Given the description of an element on the screen output the (x, y) to click on. 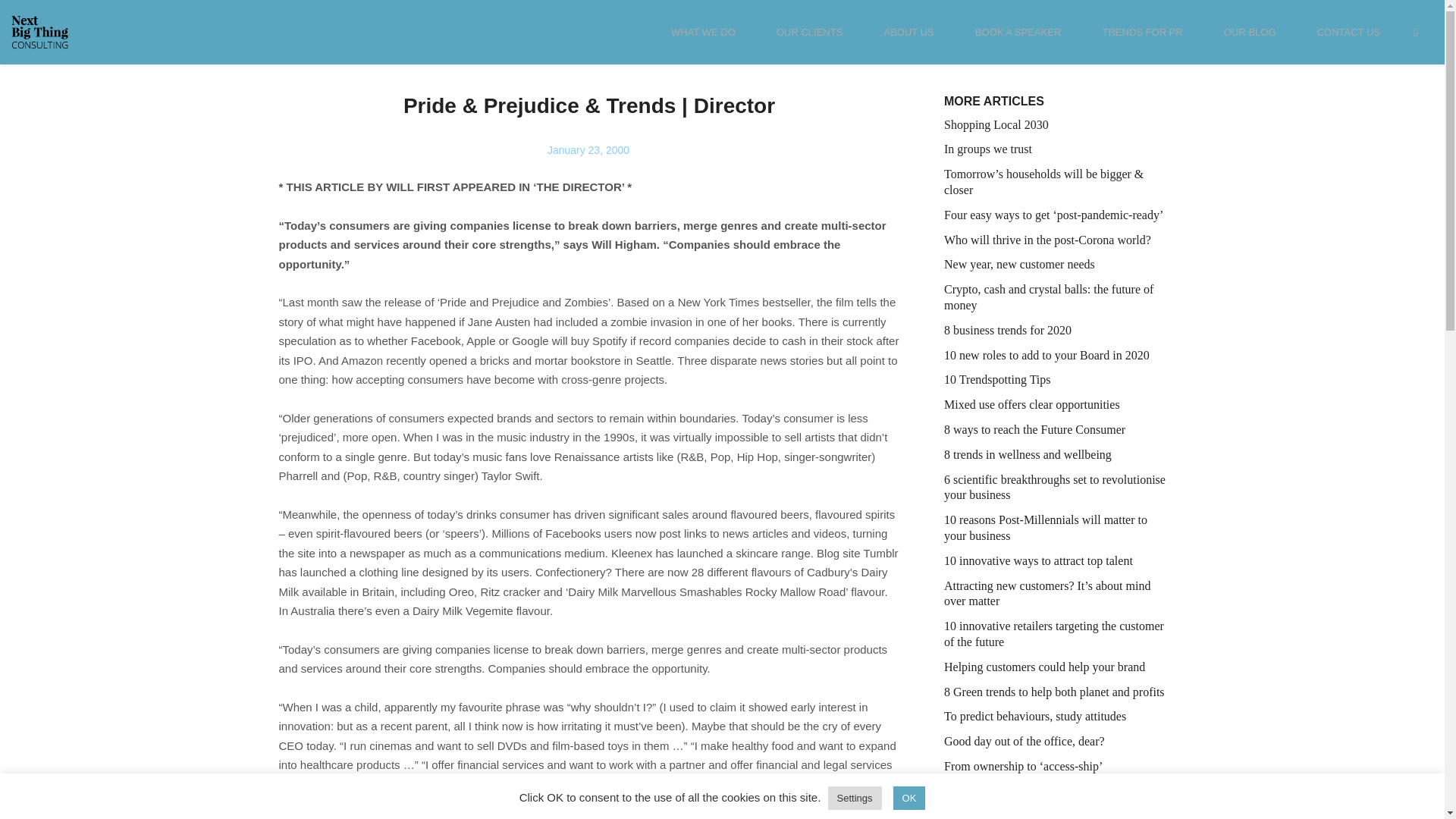
OUR CLIENTS (809, 43)
WHAT WE DO (703, 43)
In groups we trust (1054, 149)
TRENDS FOR PR (1142, 43)
January 23, 2000 (588, 150)
Shopping Local 2030 (1054, 125)
Crypto, cash and crystal balls: the future of money (1054, 297)
Who will thrive in the post-Corona world? (1054, 240)
OUR BLOG (1250, 43)
CONTACT US (1348, 43)
8 business trends for 2020 (1054, 330)
New year, new customer needs (1054, 264)
ABOUT US (908, 43)
BOOK A SPEAKER (1018, 43)
